Given the description of an element on the screen output the (x, y) to click on. 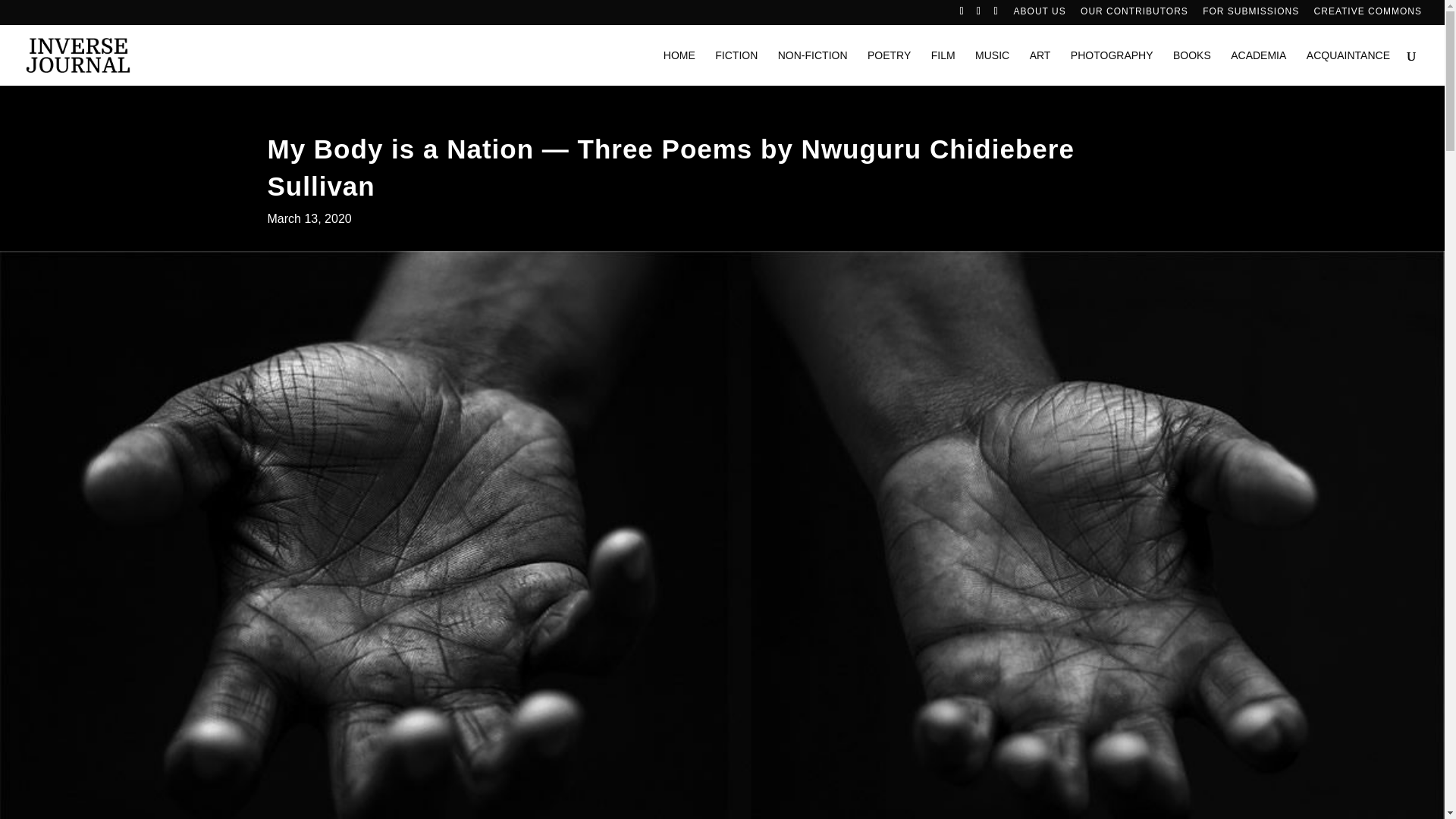
FOR SUBMISSIONS (1250, 14)
CREATIVE COMMONS (1368, 14)
FICTION (735, 67)
BOOKS (1192, 67)
PHOTOGRAPHY (1111, 67)
OUR CONTRIBUTORS (1134, 14)
ACADEMIA (1257, 67)
MUSIC (992, 67)
ACQUAINTANCE (1348, 67)
NON-FICTION (812, 67)
